Given the description of an element on the screen output the (x, y) to click on. 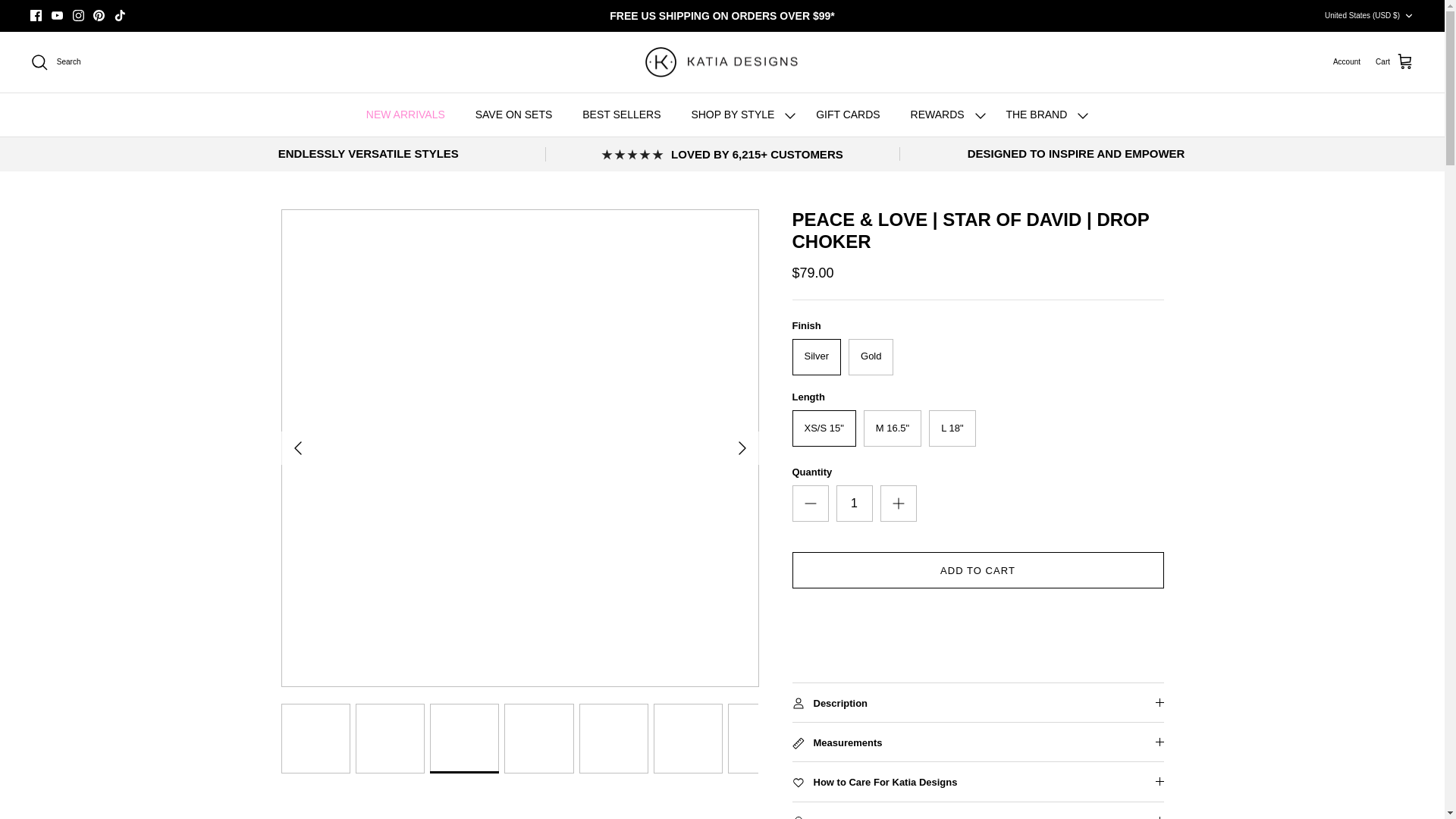
Youtube (56, 15)
Instagram (78, 15)
1 (853, 503)
Pinterest (98, 15)
Facebook (36, 15)
Minus (809, 503)
LEFT (296, 447)
Down (1408, 15)
Instagram (78, 15)
Toggle menu (1083, 116)
Toggle menu (789, 116)
Plus (897, 503)
Toggle menu (980, 116)
Youtube (56, 15)
Pinterest (98, 15)
